Given the description of an element on the screen output the (x, y) to click on. 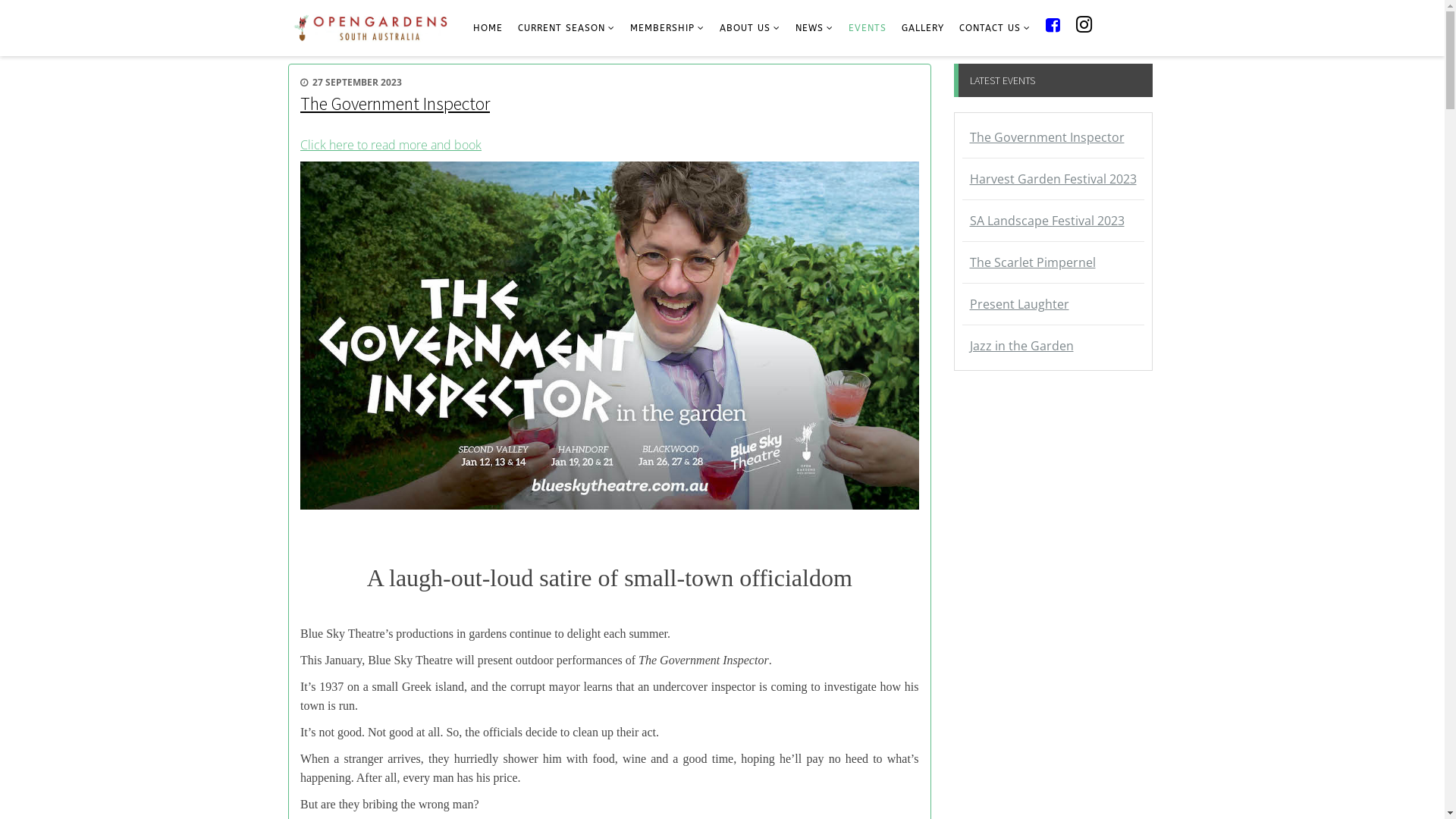
GALLERY Element type: text (922, 28)
EVENTS Element type: text (867, 28)
MEMBERSHIP Element type: text (667, 28)
NEWS Element type: text (813, 28)
CONTACT US Element type: text (994, 28)
Harvest Garden Festival 2023 Element type: text (1052, 178)
Facebook Element type: hover (1053, 28)
Present Laughter Element type: text (1052, 303)
The Government Inspector Element type: text (394, 103)
HOME Element type: text (487, 28)
Instagram Element type: hover (1084, 28)
SA Landscape Festival 2023 Element type: text (1052, 220)
CURRENT SEASON Element type: text (566, 28)
The Scarlet Pimpernel Element type: text (1052, 262)
Click here to read more and book Element type: text (390, 144)
The Government Inspector Element type: text (1052, 136)
ABOUT US Element type: text (749, 28)
Jazz in the Garden Element type: text (1052, 345)
